Given the description of an element on the screen output the (x, y) to click on. 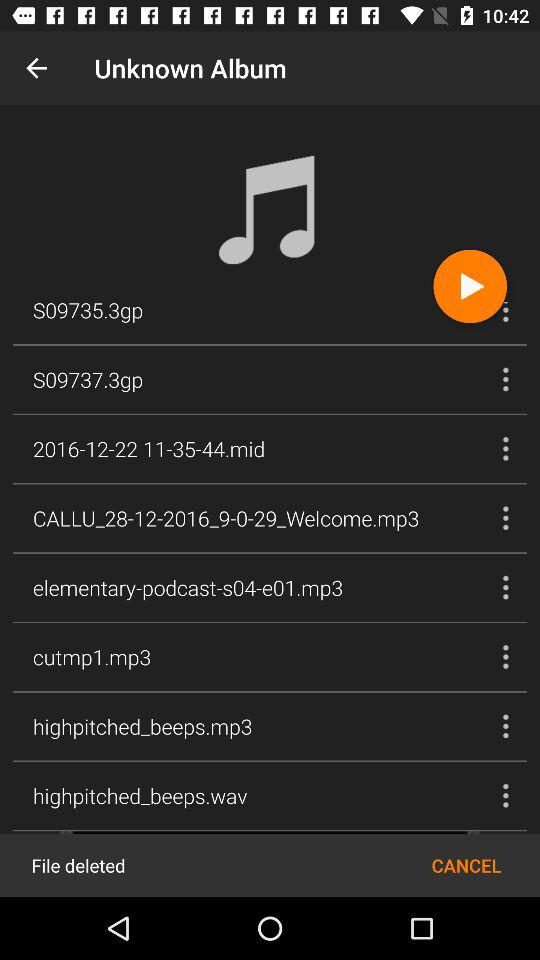
select app next to unknown album (36, 68)
